Given the description of an element on the screen output the (x, y) to click on. 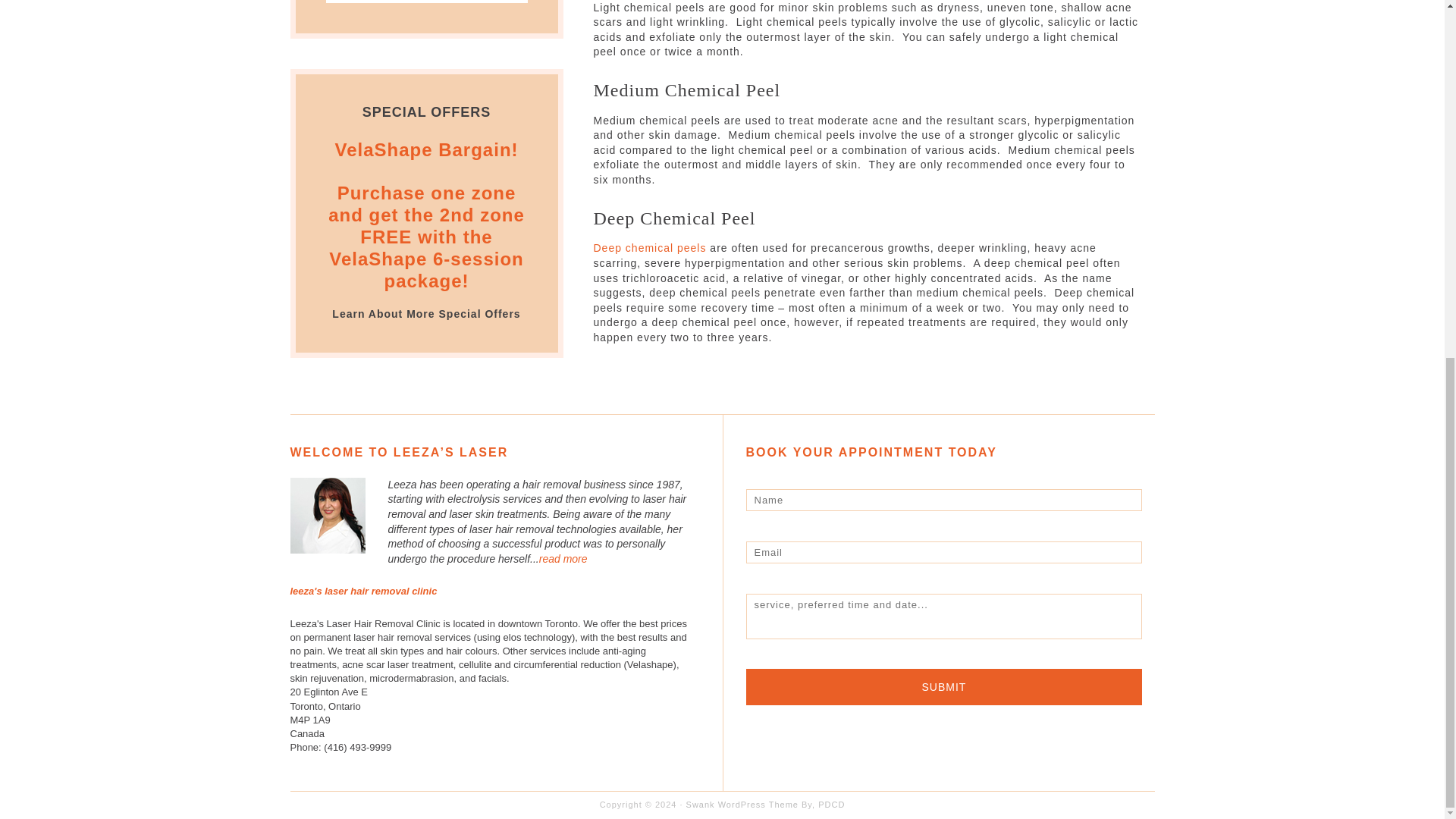
Deep chemical peels (649, 247)
Submit (943, 687)
